Given the description of an element on the screen output the (x, y) to click on. 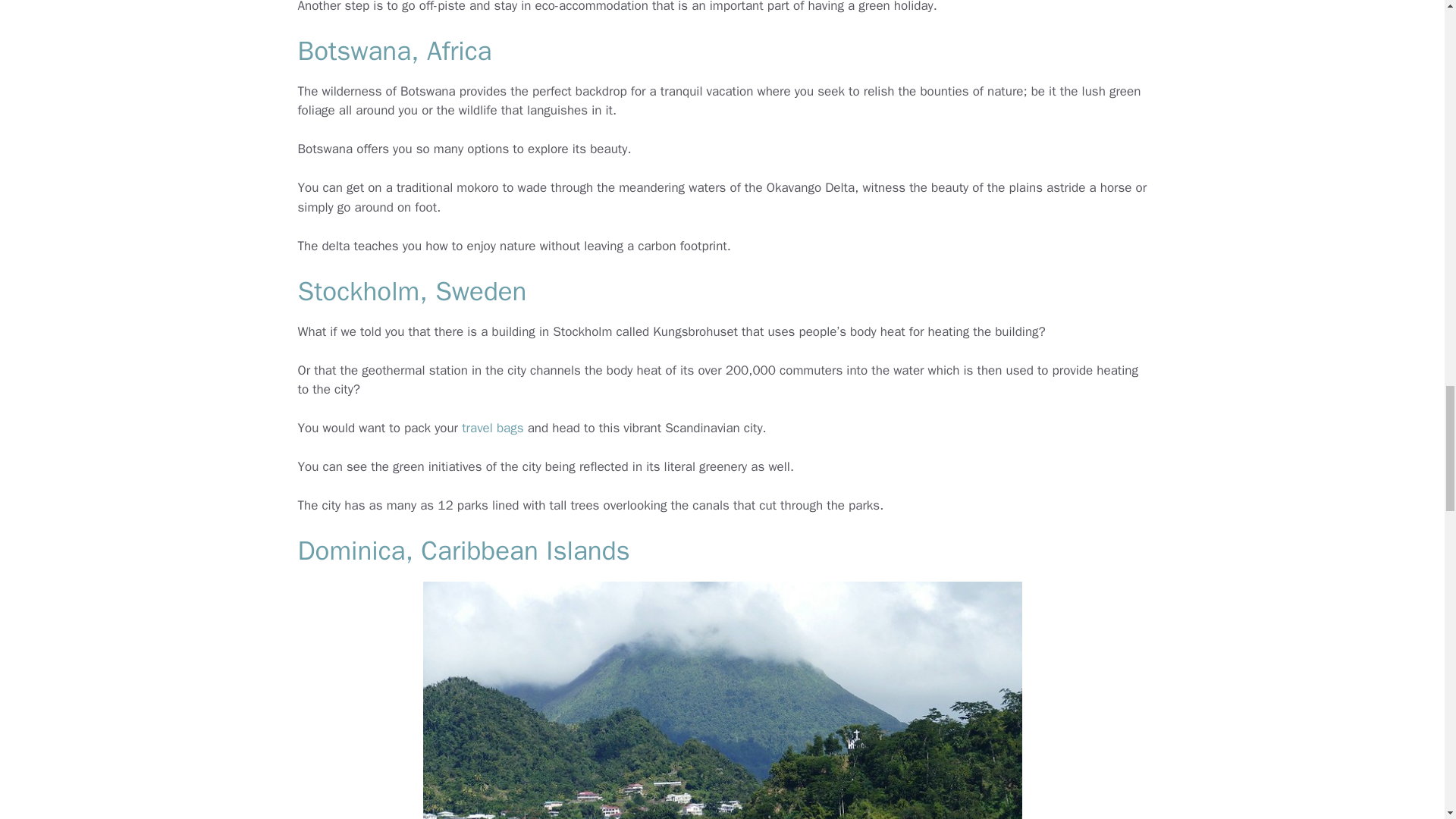
travel bags (491, 427)
